Given the description of an element on the screen output the (x, y) to click on. 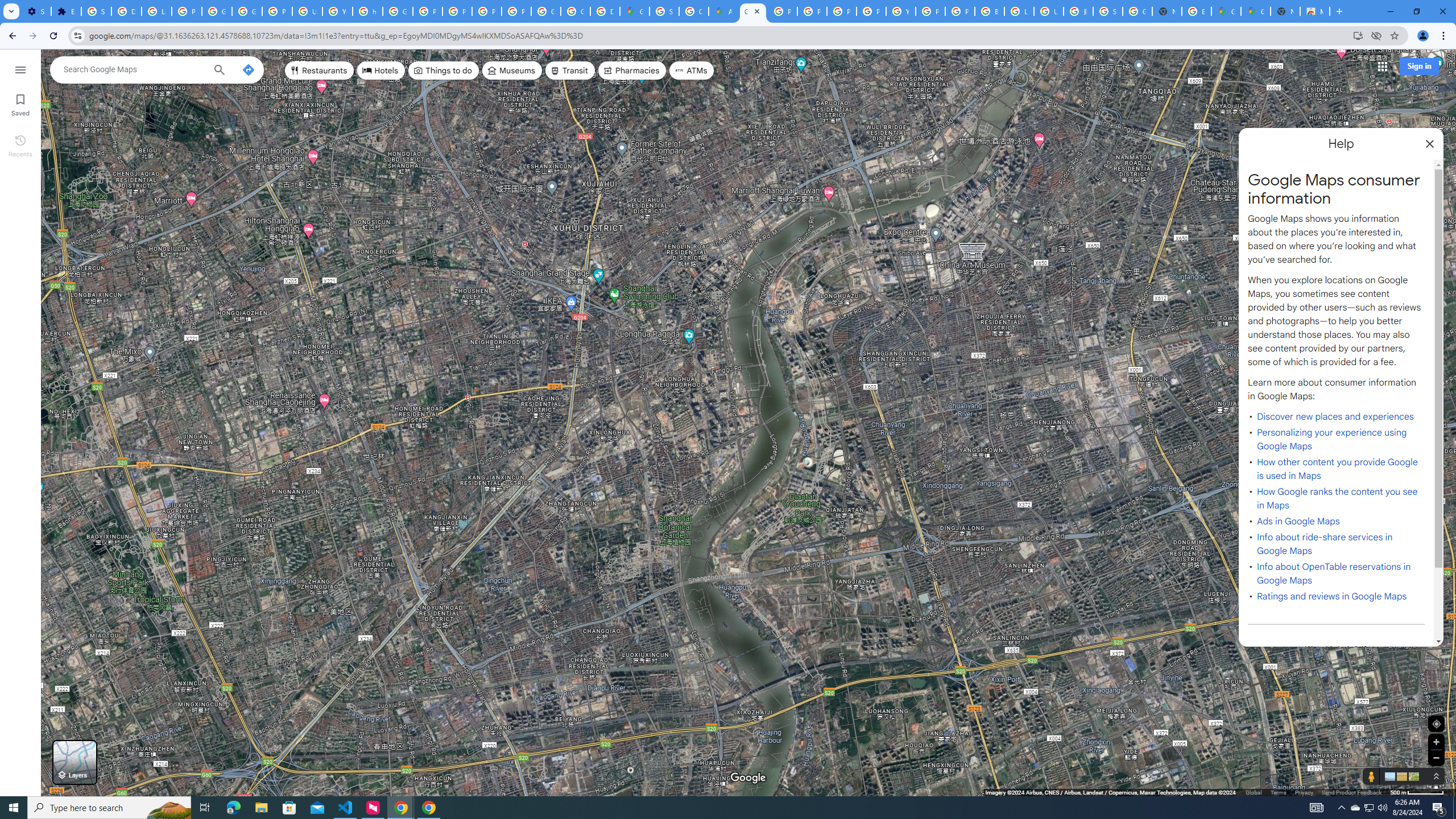
Show imagery (1412, 776)
Info about OpenTable reservations in Google Maps (1333, 573)
Zoom out (1436, 757)
Settings - On startup (36, 11)
Ratings and reviews in Google Maps (1331, 596)
Discover new places and experiences (1334, 416)
